Given the description of an element on the screen output the (x, y) to click on. 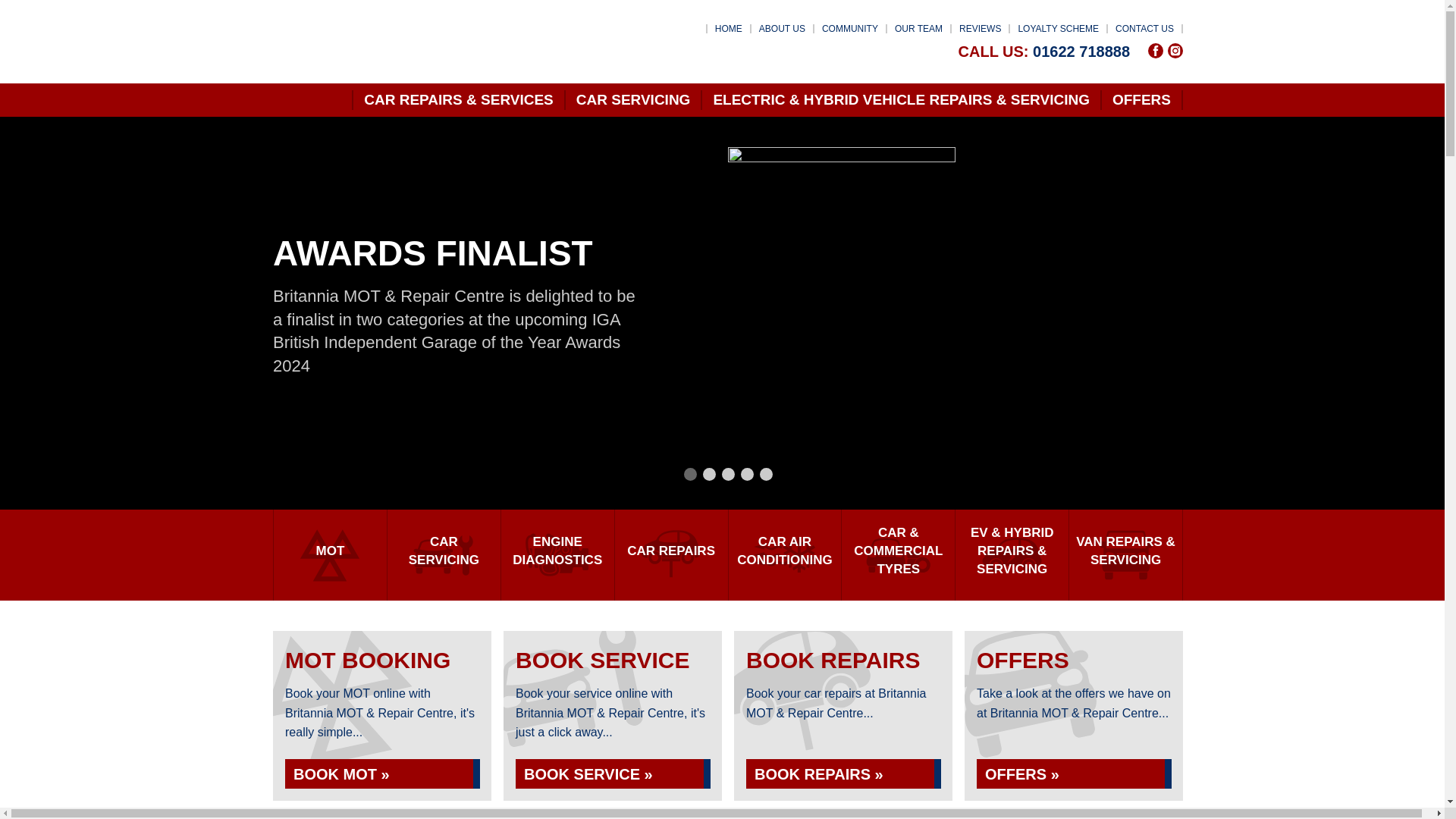
CALL US: 01622 718888 (1043, 51)
HOME (728, 28)
CONTACT US (1144, 28)
COMMUNITY (849, 28)
OUR TEAM (918, 28)
LOYALTY SCHEME (1058, 28)
REVIEWS (980, 28)
ABOUT US (781, 28)
